Given the description of an element on the screen output the (x, y) to click on. 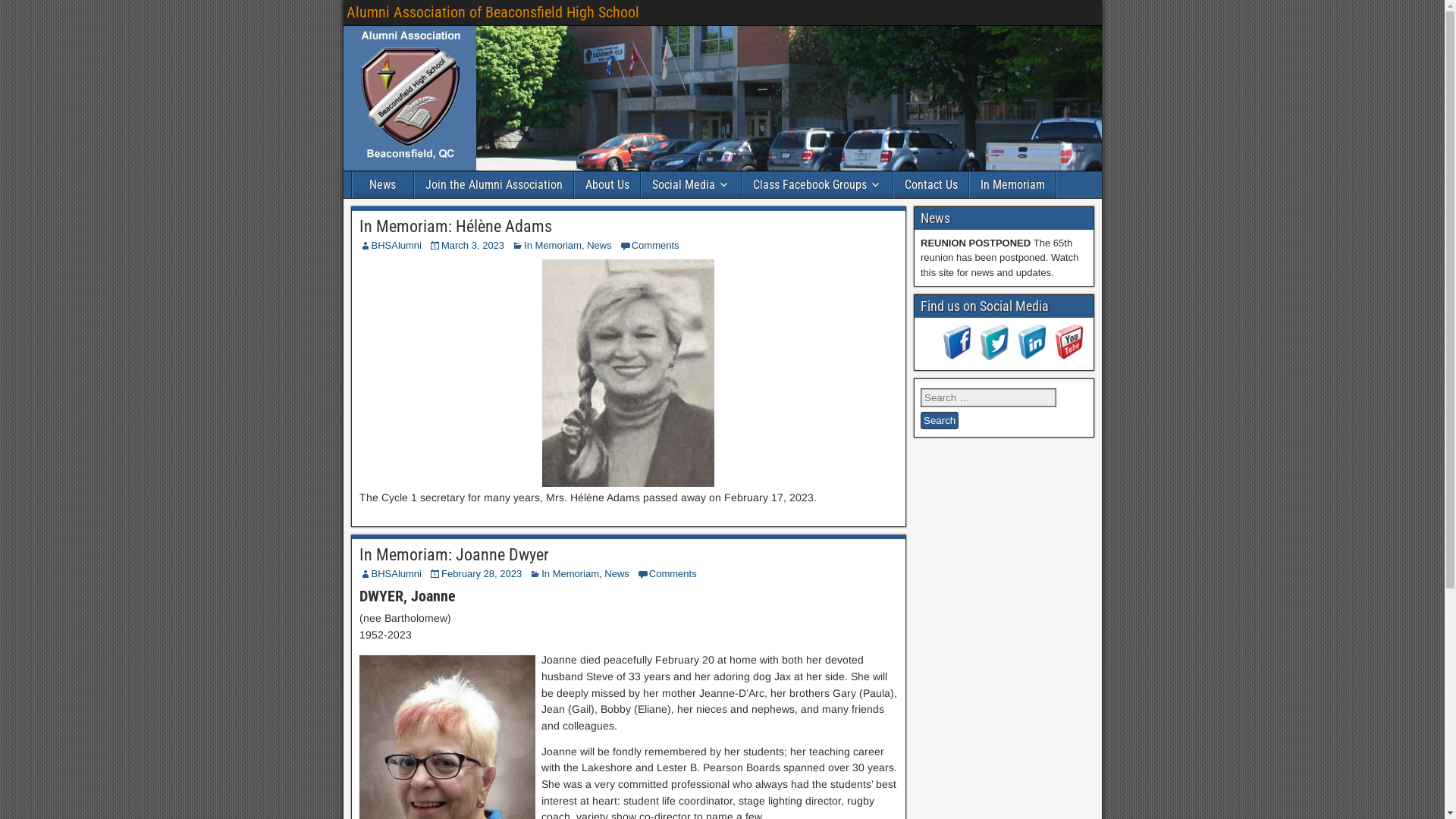
Visit Us On Twitter Element type: hover (993, 356)
BHSAlumni Element type: text (396, 573)
Social Media Element type: text (690, 184)
In Memoriam Element type: text (552, 245)
Visit Us On Youtube Element type: hover (1067, 356)
News Element type: text (616, 573)
In Memoriam Element type: text (1011, 184)
Join the Alumni Association Element type: text (493, 184)
March 3, 2023 Element type: text (472, 245)
News Element type: text (381, 184)
Visit Us On Linkedin Element type: hover (1031, 356)
Class Facebook Groups Element type: text (816, 184)
News Element type: text (598, 245)
Search Element type: text (939, 420)
About Us Element type: text (607, 184)
Visit Us On Facebook Element type: hover (956, 356)
Alumni Association of Beaconsfield High School Element type: text (491, 12)
February 28, 2023 Element type: text (481, 573)
In Memoriam Element type: text (570, 573)
Contact Us Element type: text (930, 184)
Comments Element type: text (655, 245)
BHSAlumni Element type: text (396, 245)
In Memoriam: Joanne Dwyer Element type: text (454, 554)
Comments Element type: text (672, 573)
